Given the description of an element on the screen output the (x, y) to click on. 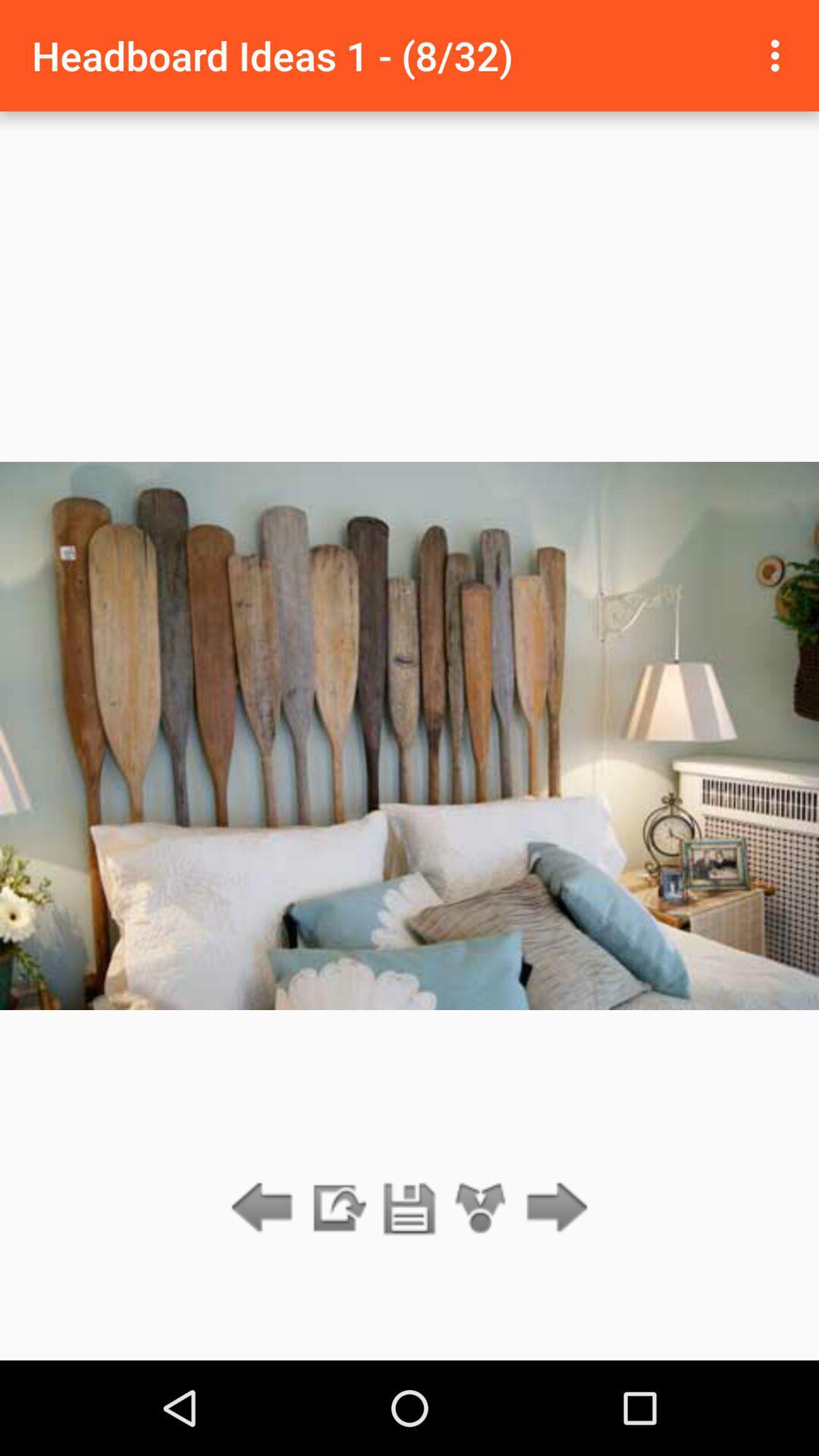
go to previous (266, 1209)
